Given the description of an element on the screen output the (x, y) to click on. 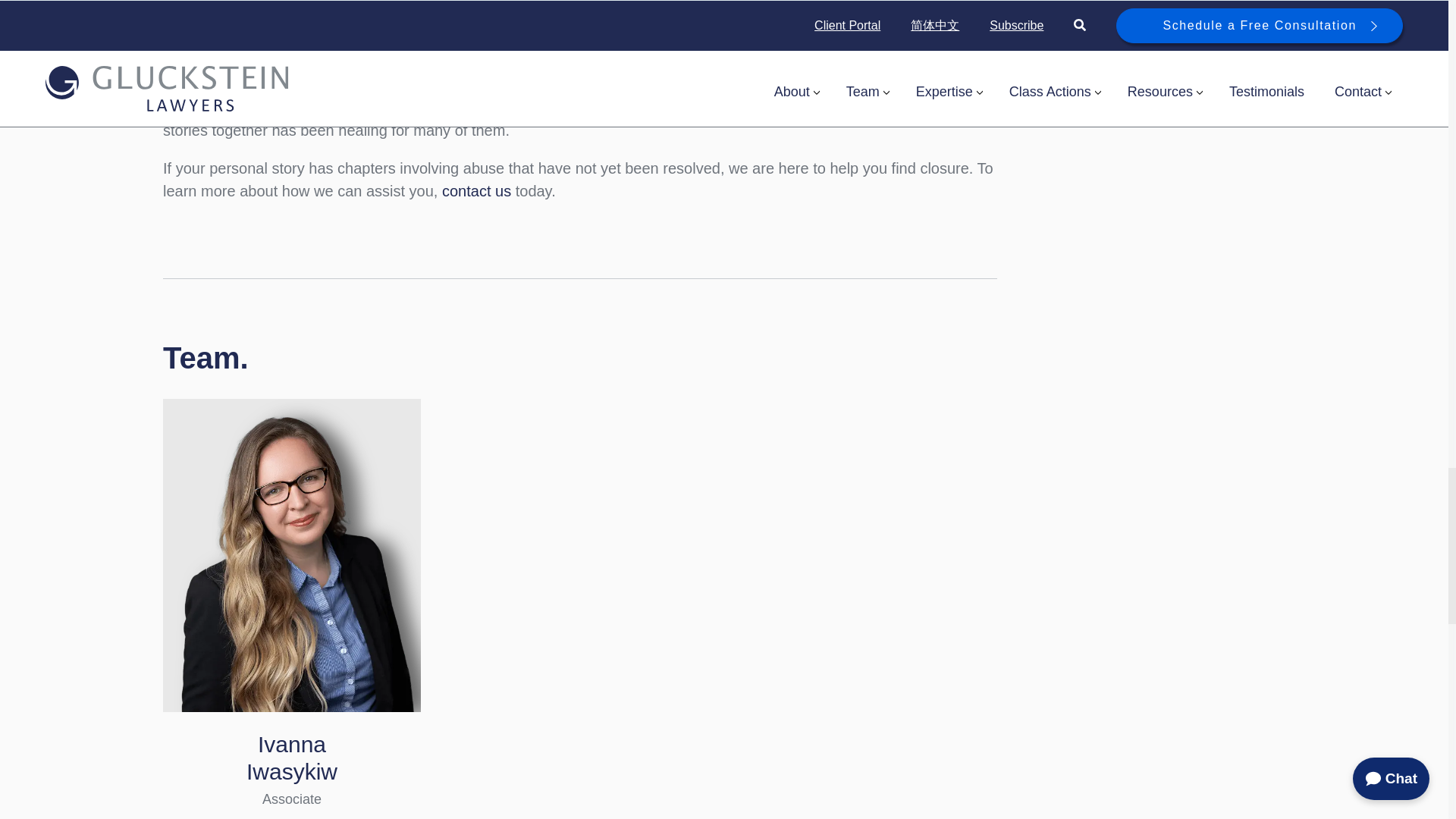
Ivanna Iwasykiw (291, 757)
